Given the description of an element on the screen output the (x, y) to click on. 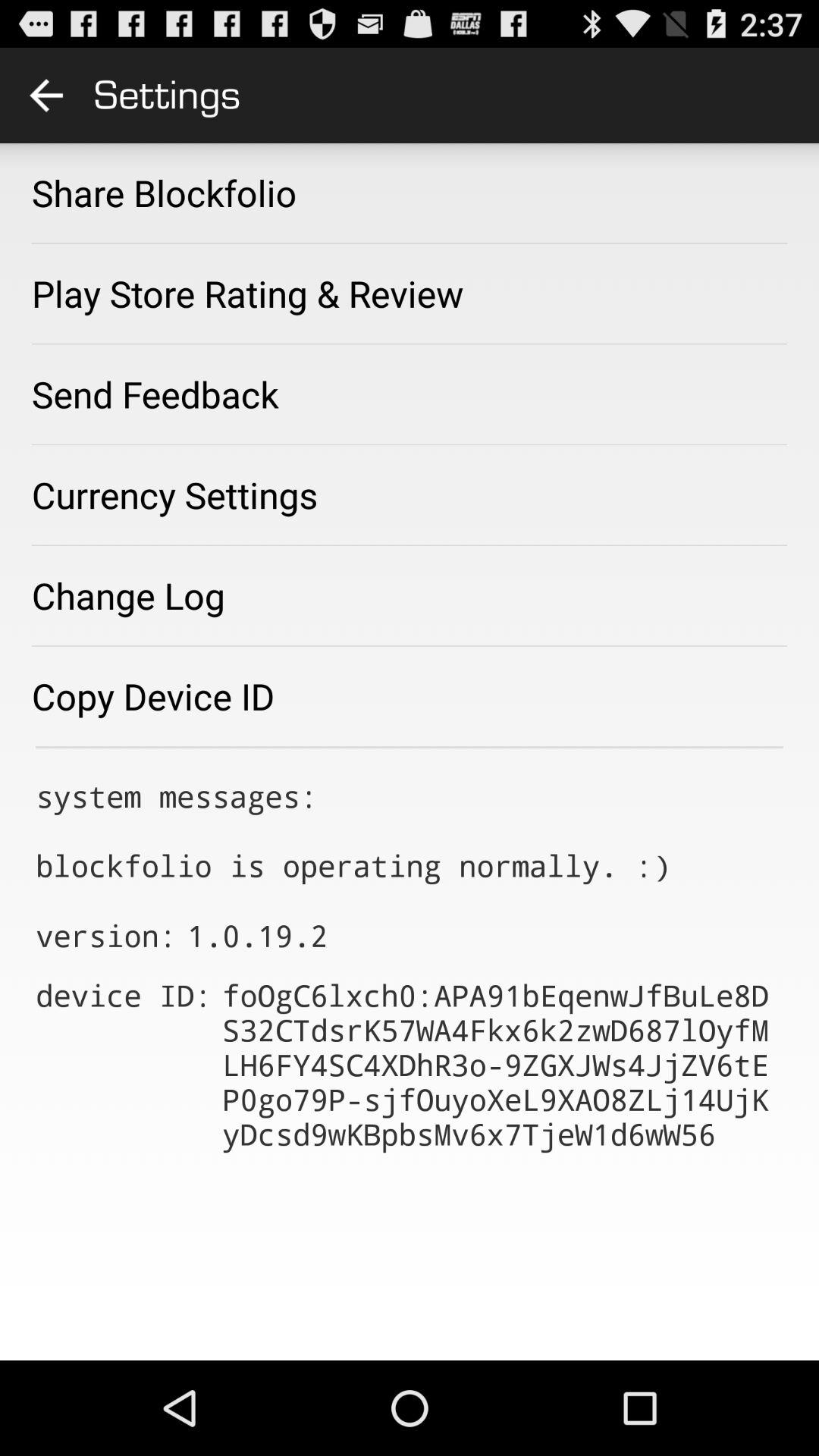
press the play store rating item (247, 293)
